Given the description of an element on the screen output the (x, y) to click on. 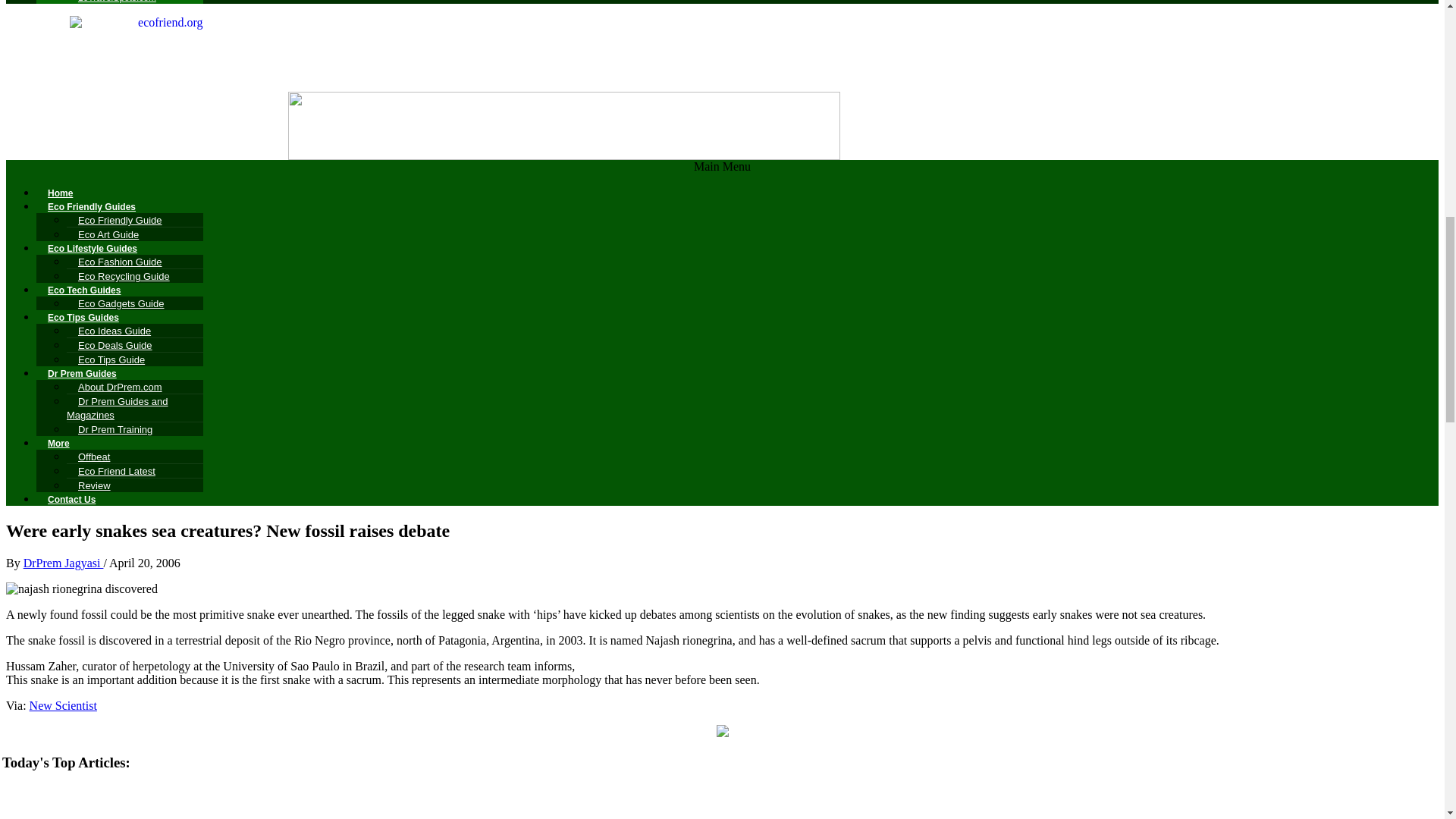
najash rionegrina discovered (81, 589)
View all posts by DrPrem Jagyasi (63, 562)
